Given the description of an element on the screen output the (x, y) to click on. 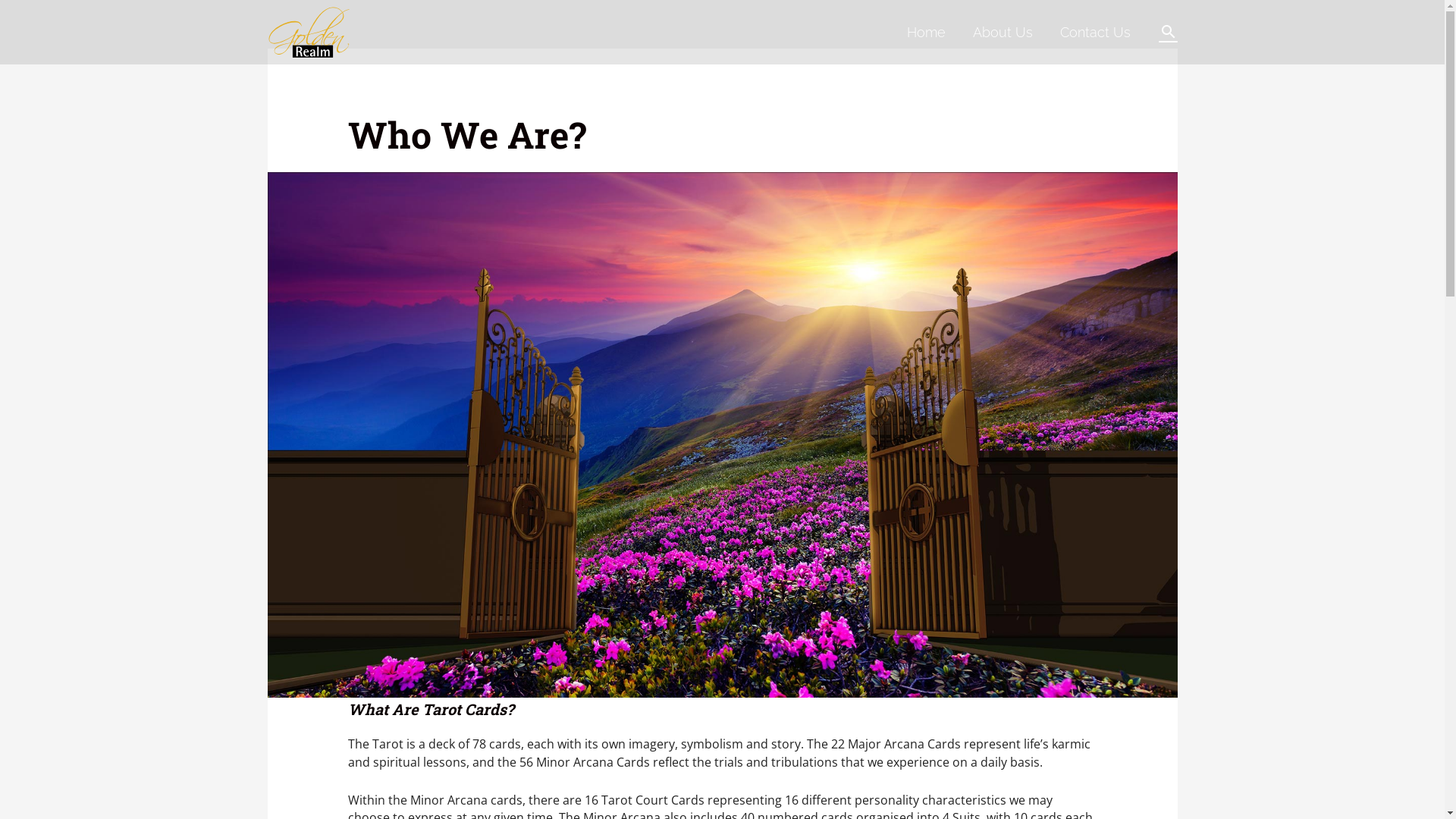
About Us Element type: text (1001, 32)
Home Element type: text (926, 32)
Contact Us Element type: text (1095, 32)
Opening-gate-slider-master_42261016-2 Element type: hover (721, 434)
